Given the description of an element on the screen output the (x, y) to click on. 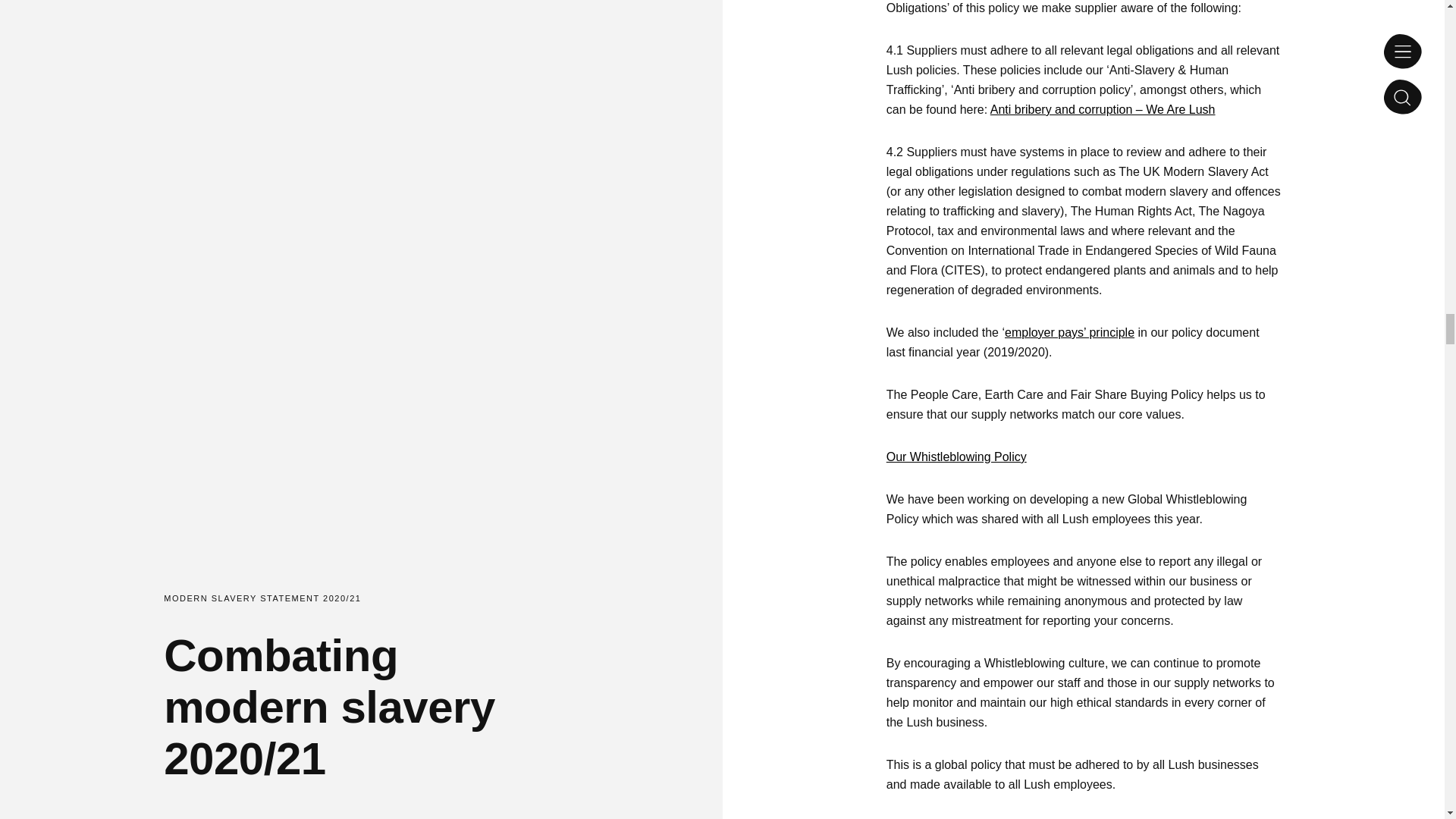
Our Whistleblowing Policy (956, 456)
